Given the description of an element on the screen output the (x, y) to click on. 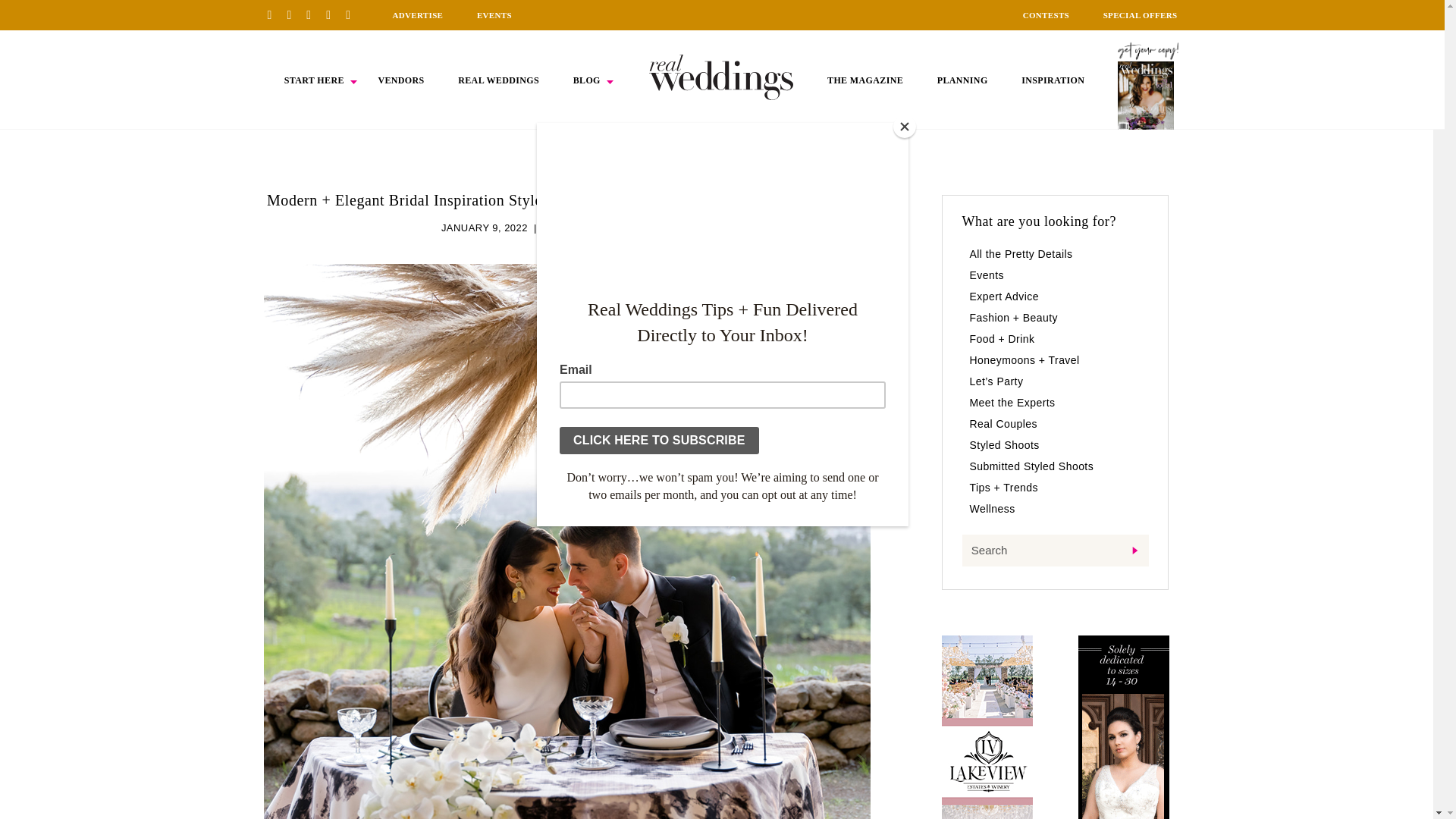
Instagram (313, 14)
REAL WEDDINGS (498, 80)
Twitter (334, 14)
CONTESTS (1045, 14)
Facebook (294, 14)
Pinterest (274, 14)
SUBMITTED STYLED SHOOTS (618, 227)
Search (1054, 550)
START HERE (313, 80)
SPECIAL OFFERS (1140, 14)
Search (1054, 550)
EVENTS (494, 14)
ADVERTISE (416, 14)
INSPIRATION (1053, 80)
HOME (721, 76)
